Given the description of an element on the screen output the (x, y) to click on. 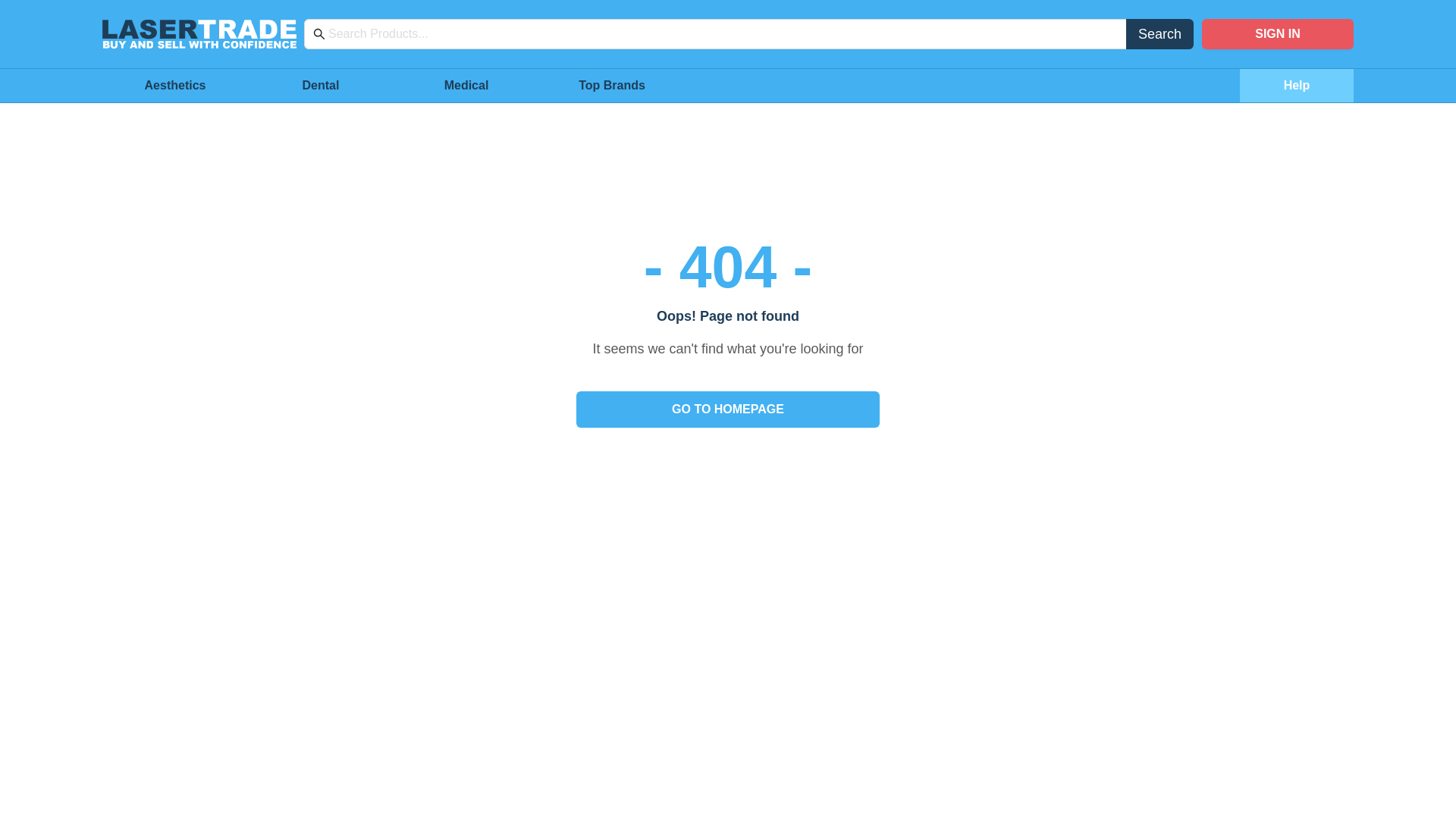
Help Element type: text (1296, 85)
Medical Element type: text (466, 85)
SIGN IN Element type: text (1277, 34)
GO TO HOMEPAGE Element type: text (727, 409)
Dental Element type: text (320, 85)
Search Element type: text (1159, 33)
SIGN IN Element type: text (1277, 33)
